Given the description of an element on the screen output the (x, y) to click on. 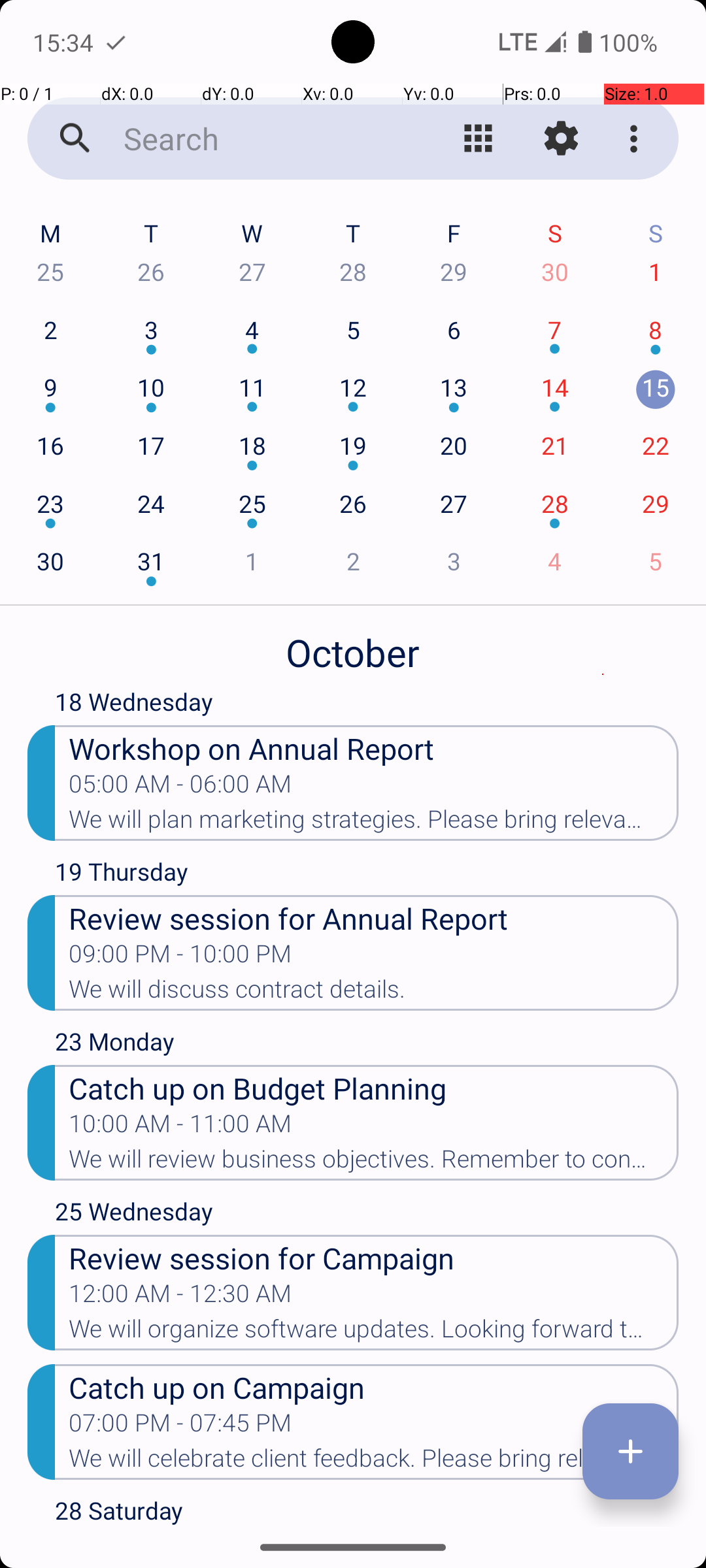
23 Monday Element type: android.widget.TextView (366, 1044)
25 Wednesday Element type: android.widget.TextView (366, 1214)
28 Saturday Element type: android.widget.TextView (366, 1509)
05:00 AM - 06:00 AM Element type: android.widget.TextView (179, 787)
We will plan marketing strategies. Please bring relevant documents. Element type: android.widget.TextView (373, 822)
09:00 PM - 10:00 PM Element type: android.widget.TextView (179, 957)
We will discuss contract details. Element type: android.widget.TextView (373, 992)
10:00 AM - 11:00 AM Element type: android.widget.TextView (179, 1127)
We will review business objectives. Remember to confirm attendance. Element type: android.widget.TextView (373, 1162)
12:00 AM - 12:30 AM Element type: android.widget.TextView (179, 1297)
We will organize software updates. Looking forward to productive discussions. Element type: android.widget.TextView (373, 1332)
07:00 PM - 07:45 PM Element type: android.widget.TextView (179, 1426)
We will celebrate client feedback. Please bring relevant documents. Element type: android.widget.TextView (373, 1461)
